Given the description of an element on the screen output the (x, y) to click on. 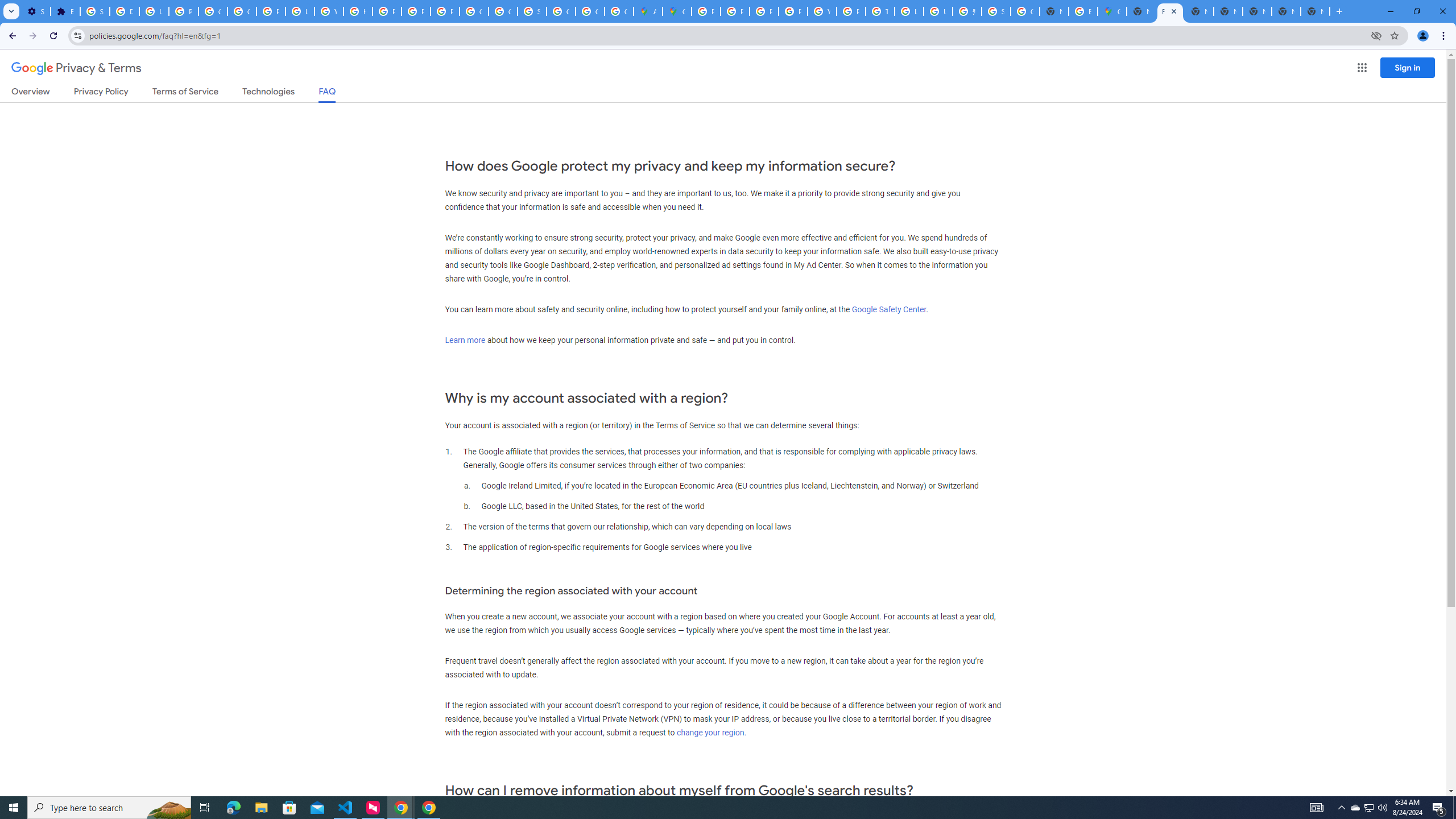
Settings - On startup (35, 11)
Privacy Help Center - Policies Help (386, 11)
Privacy Help Center - Policies Help (763, 11)
Learn more (465, 339)
Privacy Help Center - Policies Help (734, 11)
